Given the description of an element on the screen output the (x, y) to click on. 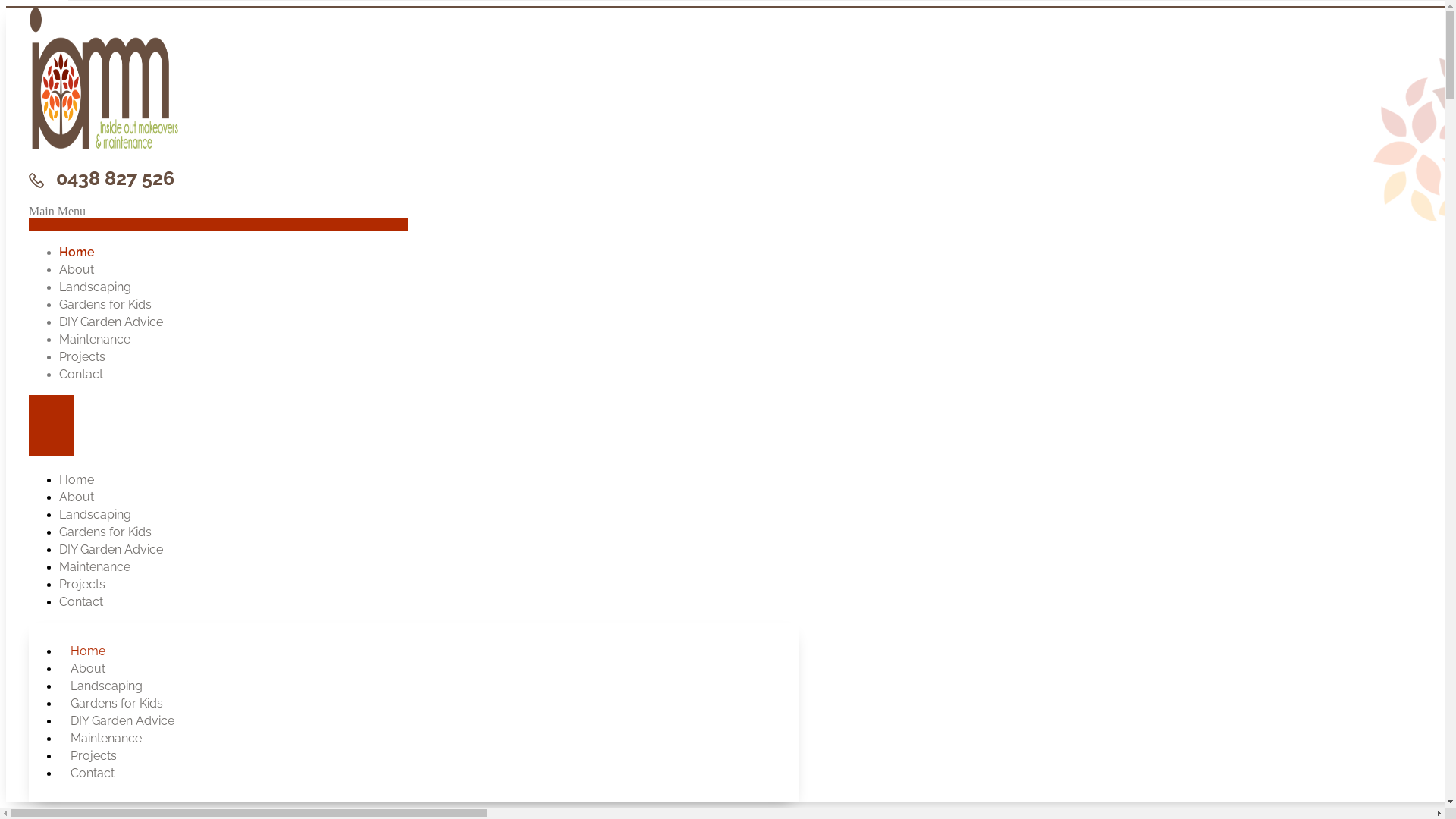
About Element type: text (76, 269)
Gardens for Kids Element type: text (105, 304)
DIY Garden Advice Element type: text (111, 549)
DIY Garden Advice Element type: text (124, 720)
Contact Element type: text (81, 601)
0438 827 526 Element type: text (101, 177)
Home Element type: text (89, 650)
Maintenance Element type: text (94, 339)
Projects Element type: text (82, 584)
Landscaping Element type: text (95, 286)
Contact Element type: text (94, 772)
Home Element type: text (76, 251)
Landscaping Element type: text (95, 514)
Projects Element type: text (82, 356)
Projects Element type: text (95, 755)
About Element type: text (76, 496)
Gardens for Kids Element type: text (118, 703)
Landscaping Element type: text (108, 685)
Contact Element type: text (81, 374)
Maintenance Element type: text (107, 738)
DIY Garden Advice Element type: text (111, 321)
Home Element type: text (76, 479)
Gardens for Kids Element type: text (105, 531)
About Element type: text (89, 668)
Maintenance Element type: text (94, 566)
